Given the description of an element on the screen output the (x, y) to click on. 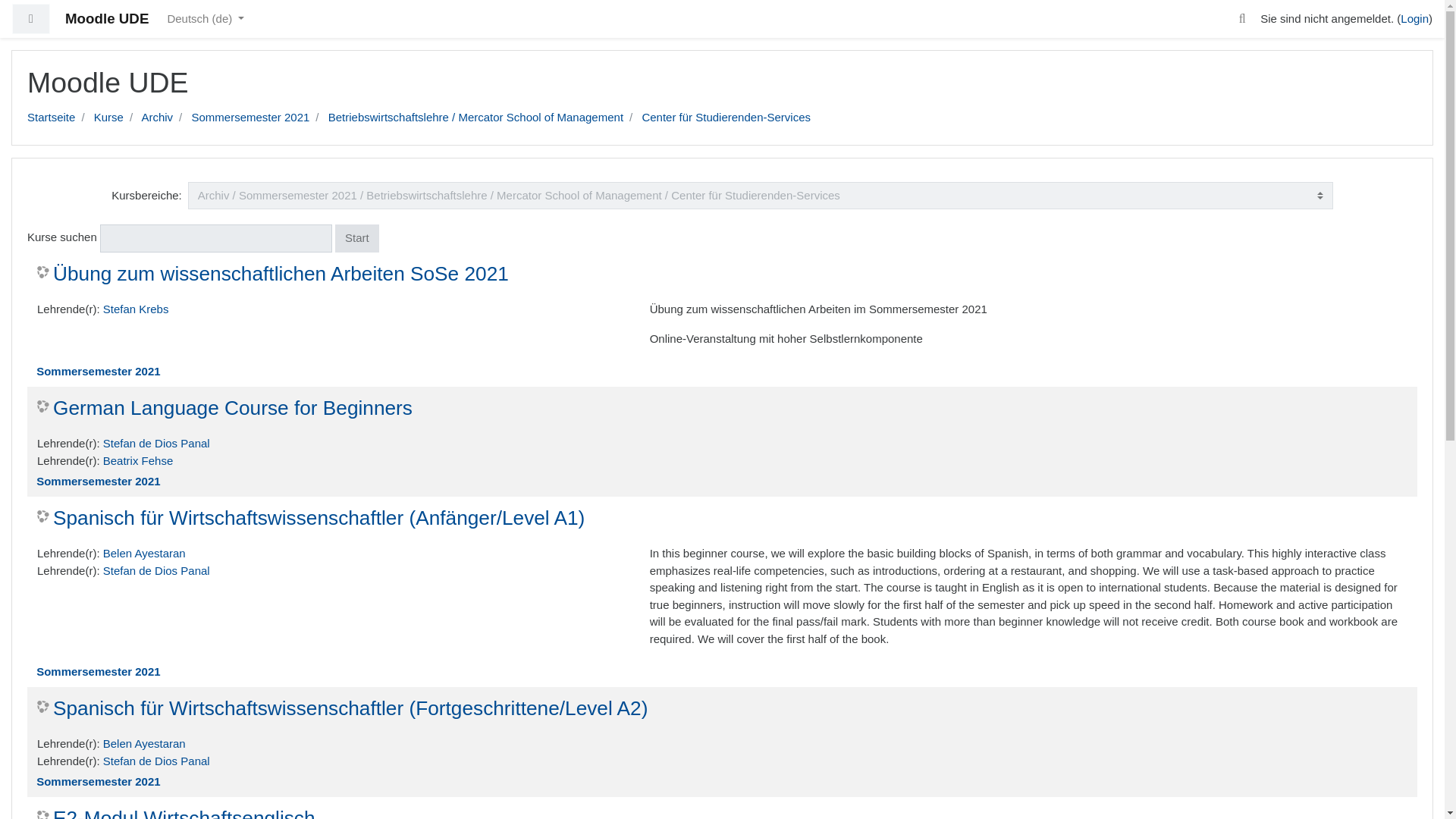
Stefan de Dios Panal (156, 759)
Kursbereich (721, 481)
Sommersemester 2021 (98, 671)
German Language Course for Beginners (224, 407)
Sommersemester 2021 (98, 370)
Sommersemester 2021 (249, 116)
Sommersemester 2021 (98, 780)
Suchen (1241, 19)
Archiv (157, 116)
Stefan Krebs (135, 308)
Kursbereich (721, 371)
Login (1414, 18)
Kurse (108, 116)
Moodle UDE (106, 19)
Belen Ayestaran (144, 553)
